Given the description of an element on the screen output the (x, y) to click on. 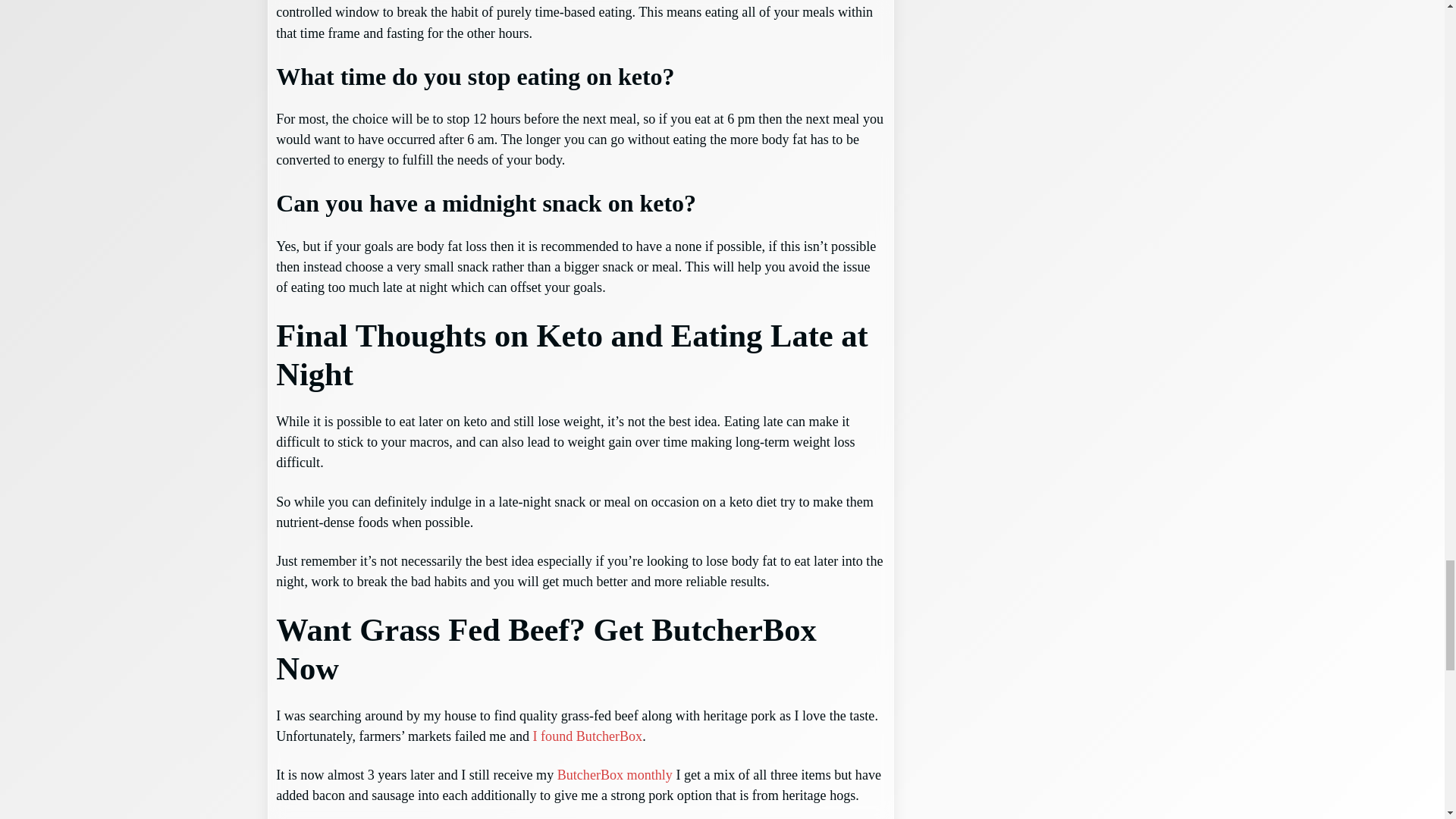
I found ButcherBox (587, 735)
ButcherBox monthly (614, 774)
